Given the description of an element on the screen output the (x, y) to click on. 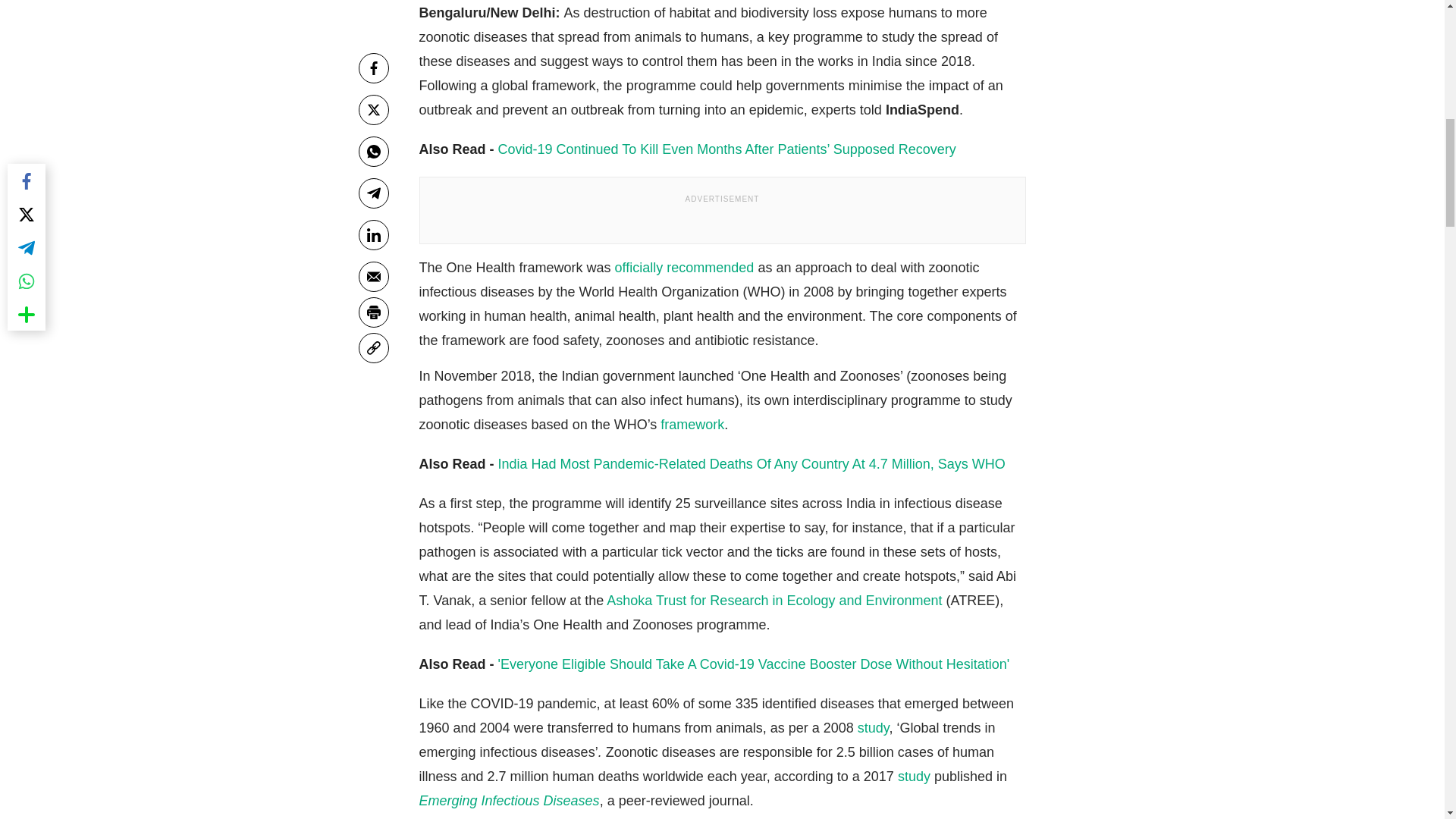
Share by Email (373, 260)
LinkedIn (373, 218)
